Given the description of an element on the screen output the (x, y) to click on. 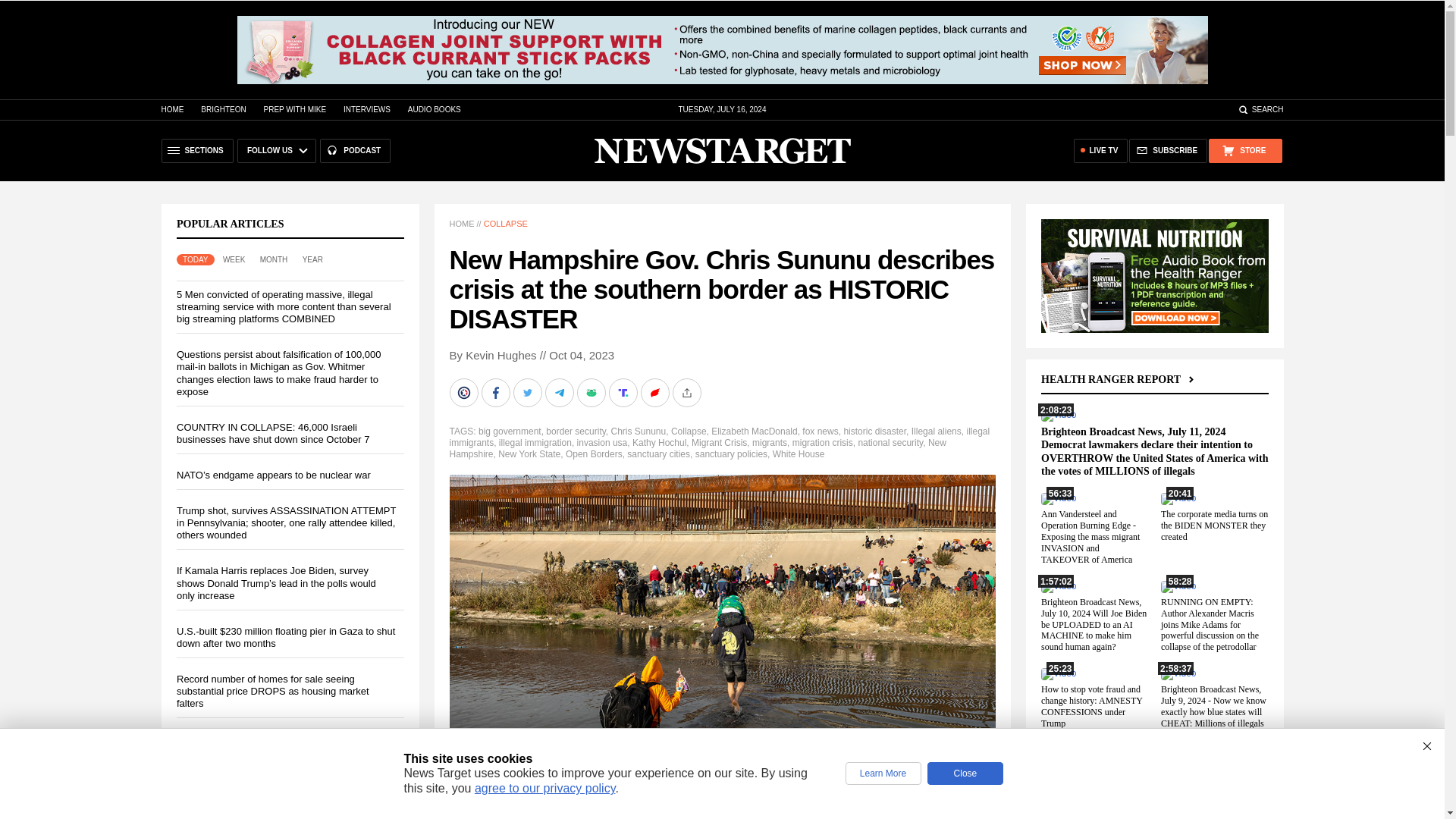
STORE (1244, 150)
Search (1260, 109)
Share on Brighteon.Social (464, 392)
Share on Telegram (560, 392)
BRIGHTEON (223, 109)
Share on Gettr (655, 392)
PODCAST (355, 150)
Share on Twitter (528, 392)
Share on Truth.Social (624, 392)
SUBSCRIBE (1168, 150)
AUDIO BOOKS (434, 109)
Share on GAB (592, 392)
SEARCH (1260, 109)
Share on Facebook (496, 392)
